Given the description of an element on the screen output the (x, y) to click on. 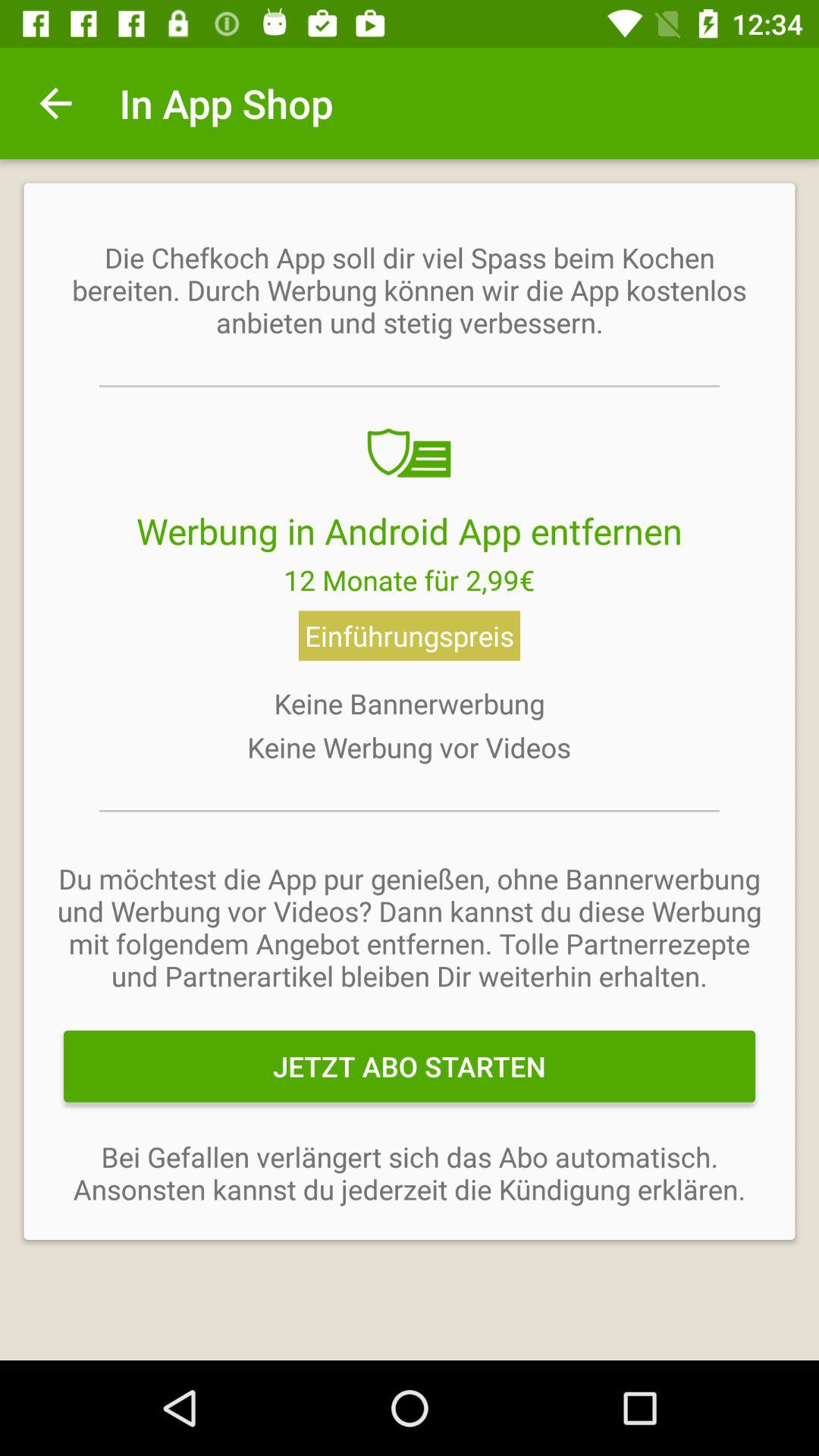
select the icon to the left of the in app shop item (55, 103)
